Given the description of an element on the screen output the (x, y) to click on. 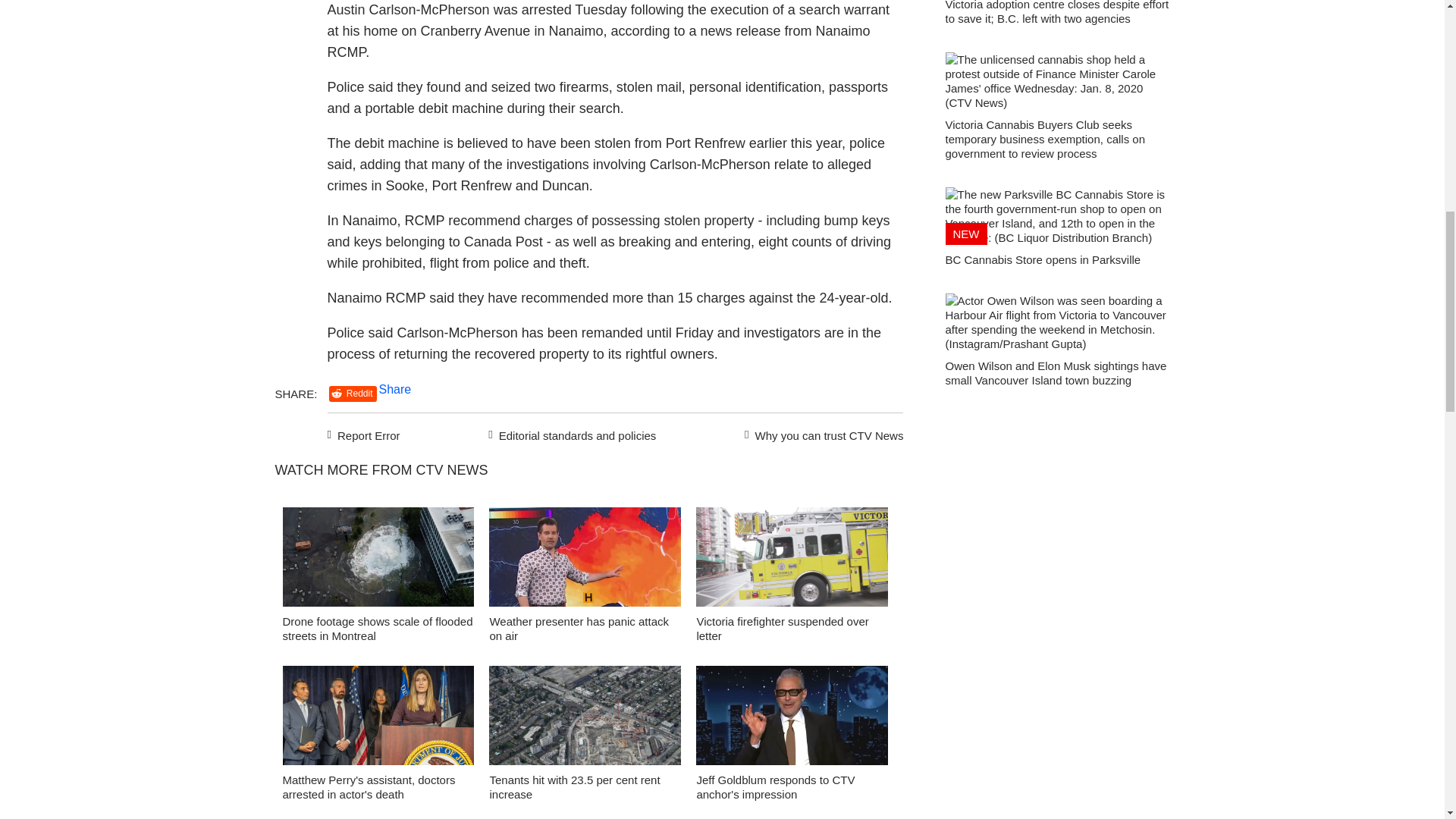
false (791, 556)
Victoria firefighter suspended over letter (781, 628)
Jeff Goldblum responds to CTV anchor's impression (774, 786)
CTV National News: Arrests made in Perry's death (378, 719)
false (378, 714)
false (585, 714)
Report Error (363, 433)
Reddit (353, 393)
Share (395, 389)
Drone footage shows scale of flooded streets in Montreal (376, 628)
